Given the description of an element on the screen output the (x, y) to click on. 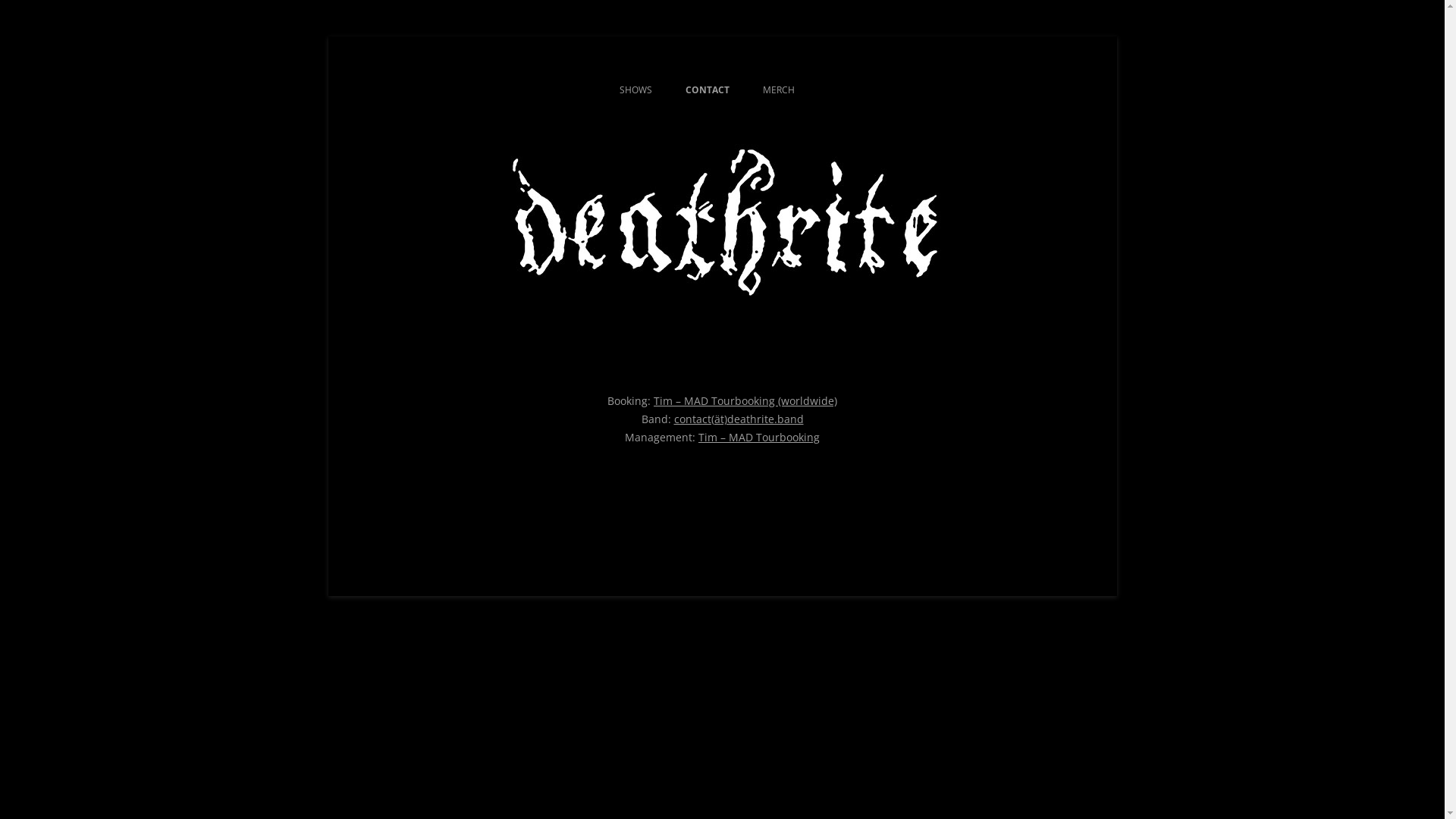
SHOWS Element type: text (635, 89)
DEATHRITE Element type: text (411, 72)
Zum Inhalt springen Element type: text (721, 72)
CONTACT Element type: text (707, 89)
MERCH Element type: text (778, 89)
